Given the description of an element on the screen output the (x, y) to click on. 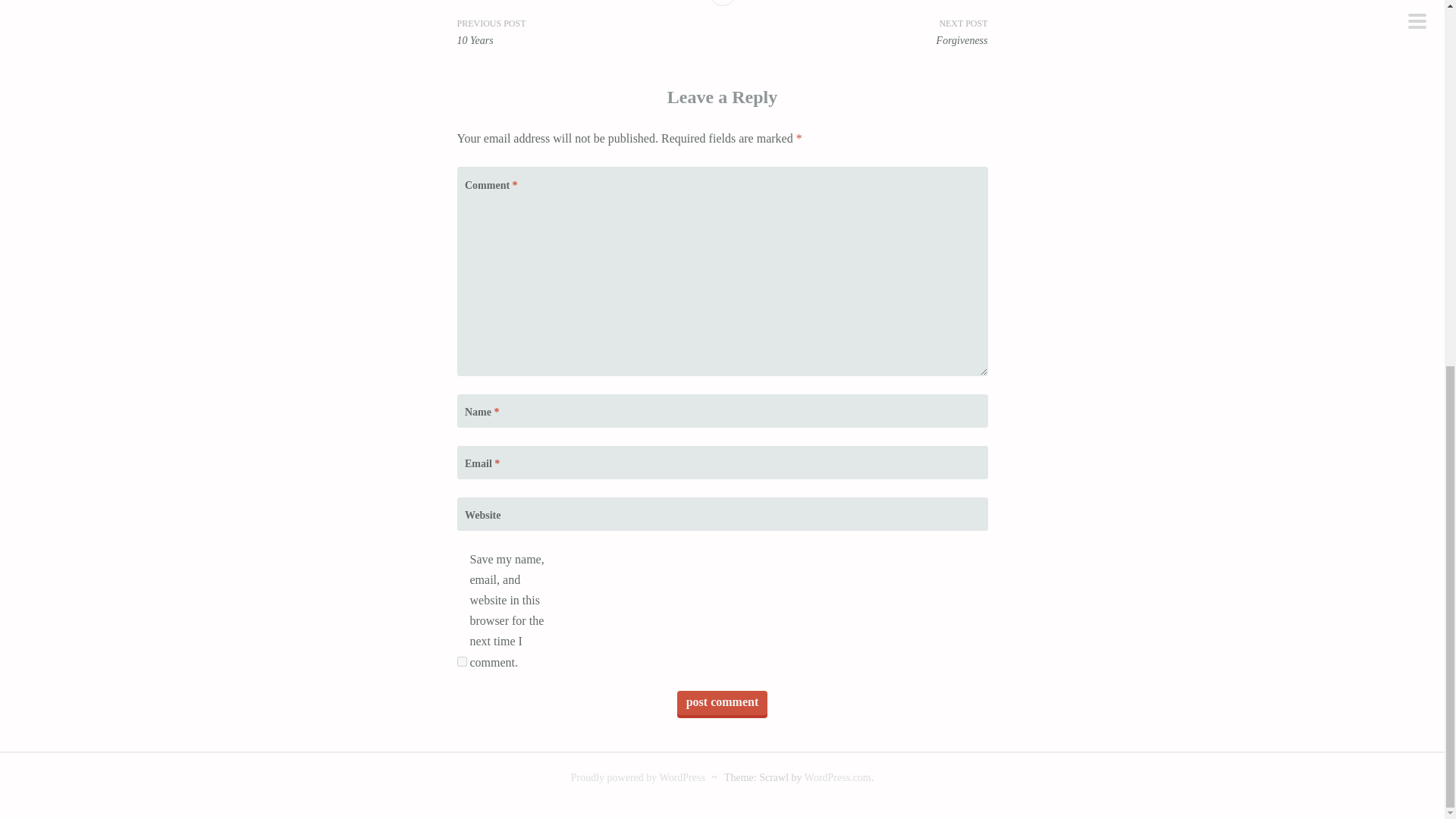
WordPress.com (837, 777)
PREVIOUS POST10 Years (589, 31)
Post Comment (722, 702)
NEXT POSTForgiveness (854, 31)
Post Comment (722, 702)
Proudly powered by WordPress (637, 777)
yes (461, 661)
0 (722, 2)
